Given the description of an element on the screen output the (x, y) to click on. 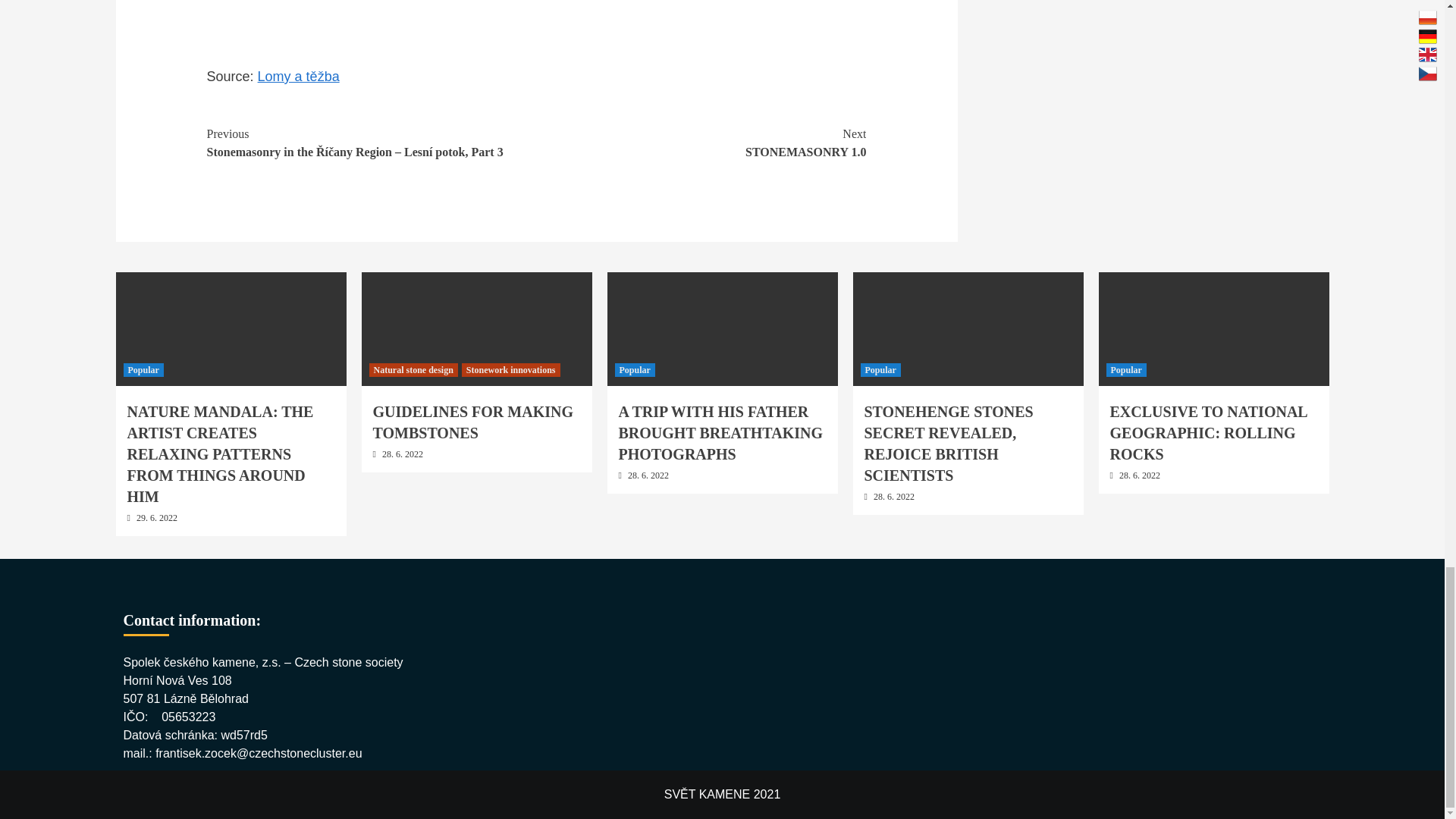
GUIDELINES FOR MAKING TOMBSTONES (472, 422)
Natural stone design (412, 369)
Stonework innovations (510, 369)
Popular (142, 369)
Popular (1125, 369)
A TRIP WITH HIS FATHER BROUGHT BREATHTAKING PHOTOGRAPHS (721, 432)
Popular (879, 369)
Popular (633, 369)
